Given the description of an element on the screen output the (x, y) to click on. 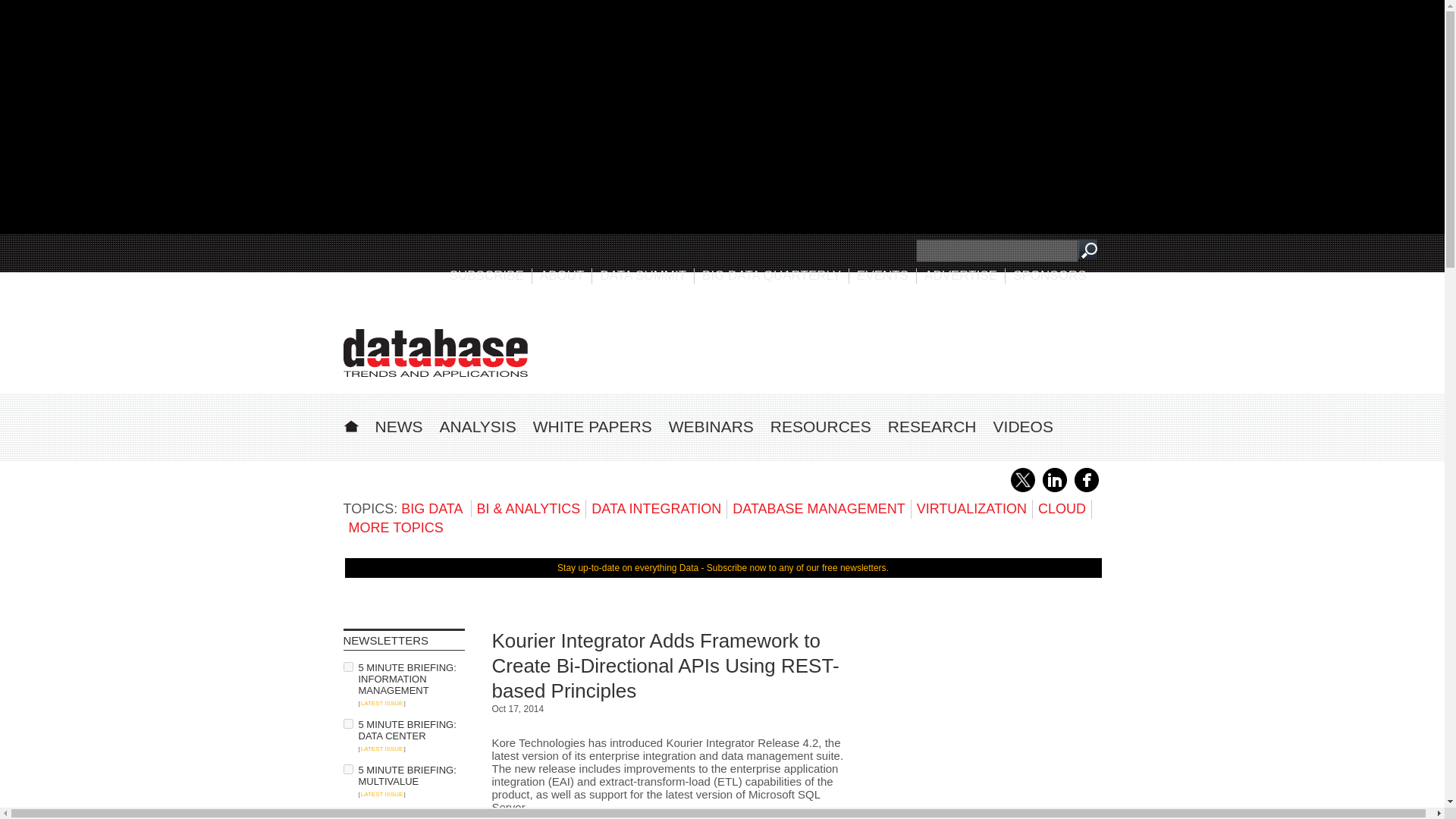
DBTA (434, 352)
WHITE PAPERS (592, 425)
DBTA on LinkedIn (1053, 489)
on (347, 768)
SPONSORS (1049, 275)
DBTA on Facebook (1085, 489)
on (347, 814)
DBTA (434, 352)
RESEARCH (932, 425)
Database Trends and Applications Home (350, 424)
